Given the description of an element on the screen output the (x, y) to click on. 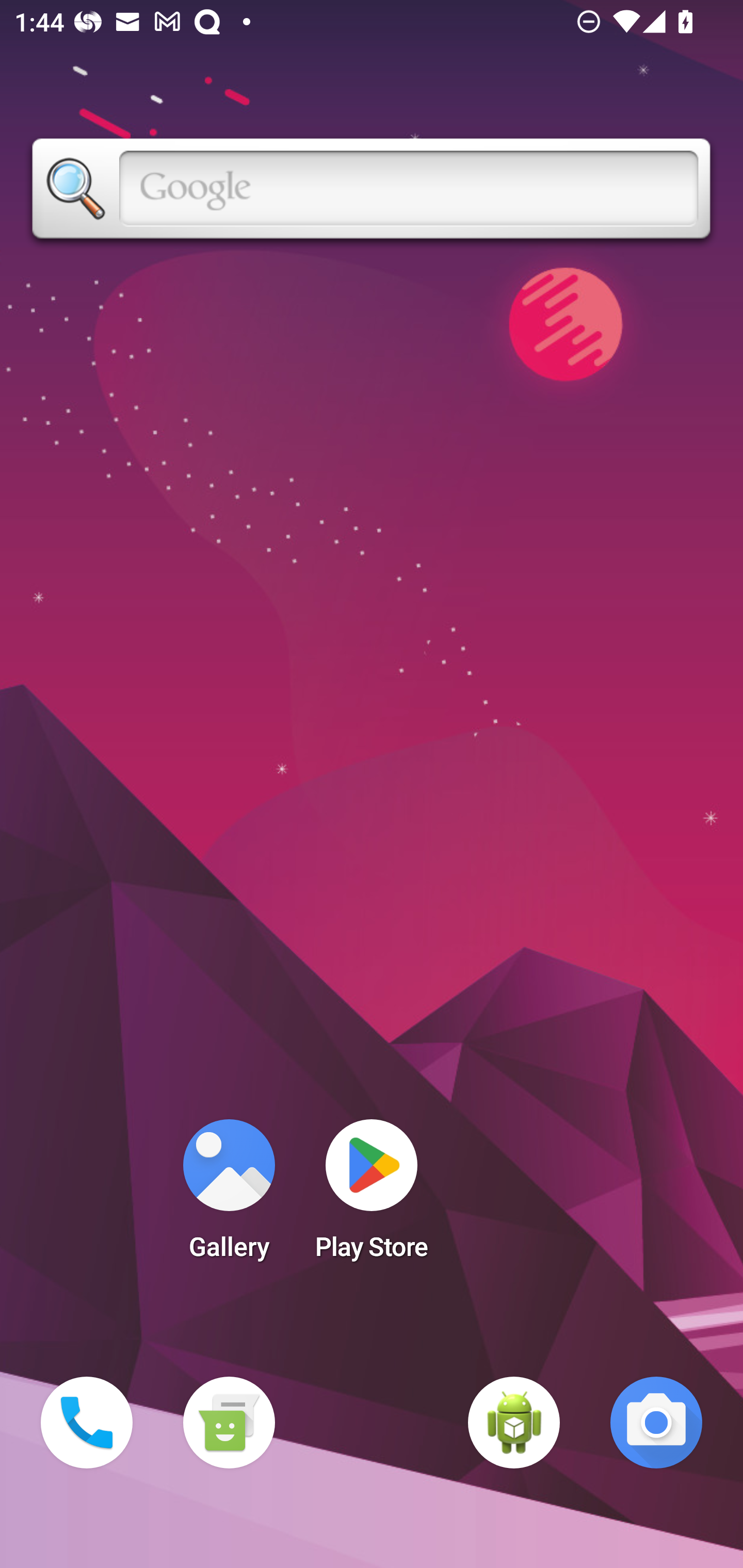
Gallery (228, 1195)
Play Store (371, 1195)
Phone (86, 1422)
Messaging (228, 1422)
WebView Browser Tester (513, 1422)
Camera (656, 1422)
